Given the description of an element on the screen output the (x, y) to click on. 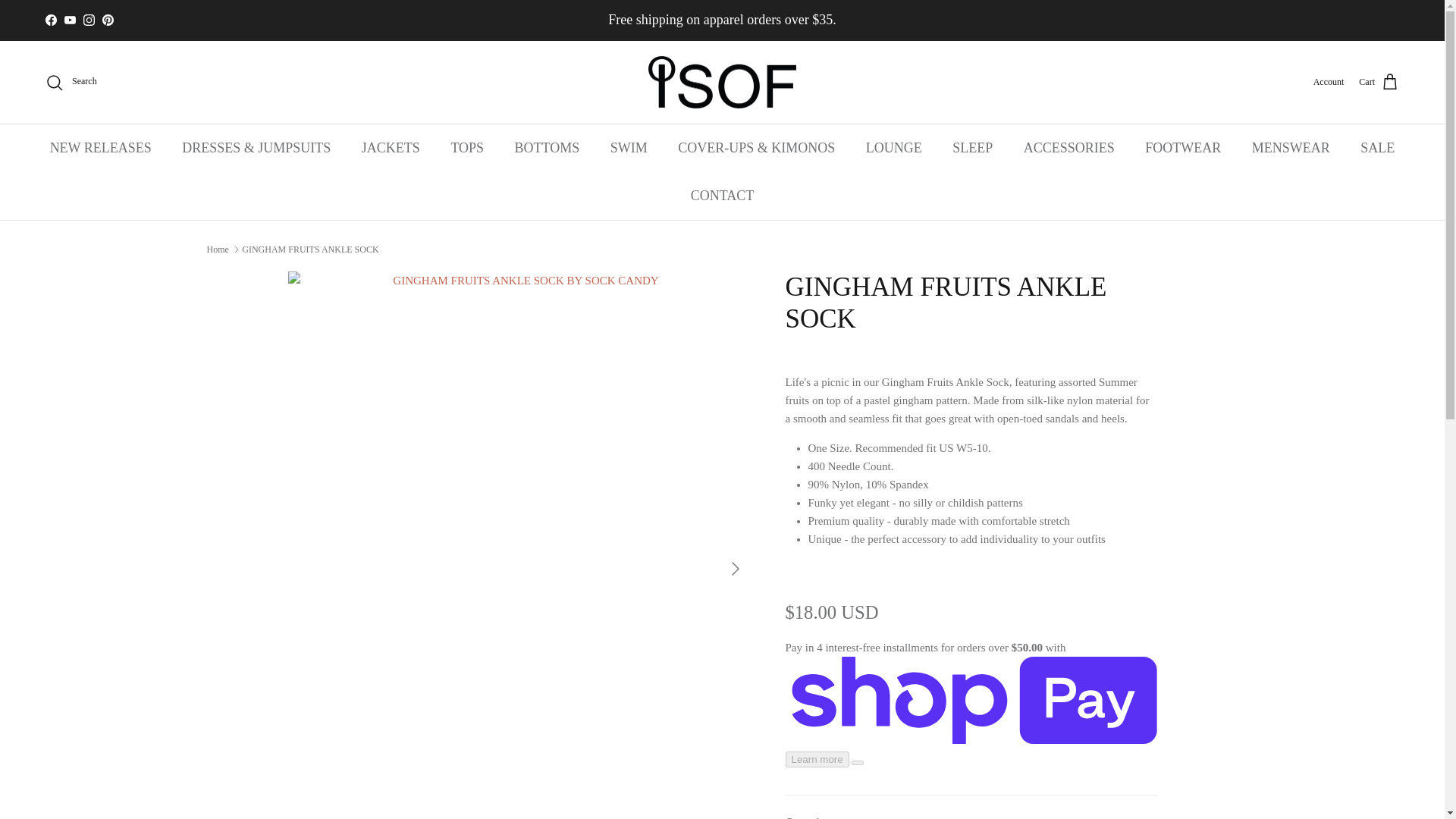
SWIM (628, 147)
ISOF on Instagram (88, 19)
FOOTWEAR (1182, 147)
YouTube (69, 19)
Cart (1378, 82)
Instagram (88, 19)
Pinterest (107, 19)
ISOF (721, 82)
ISOF on Pinterest (107, 19)
ISOF on YouTube (69, 19)
